Given the description of an element on the screen output the (x, y) to click on. 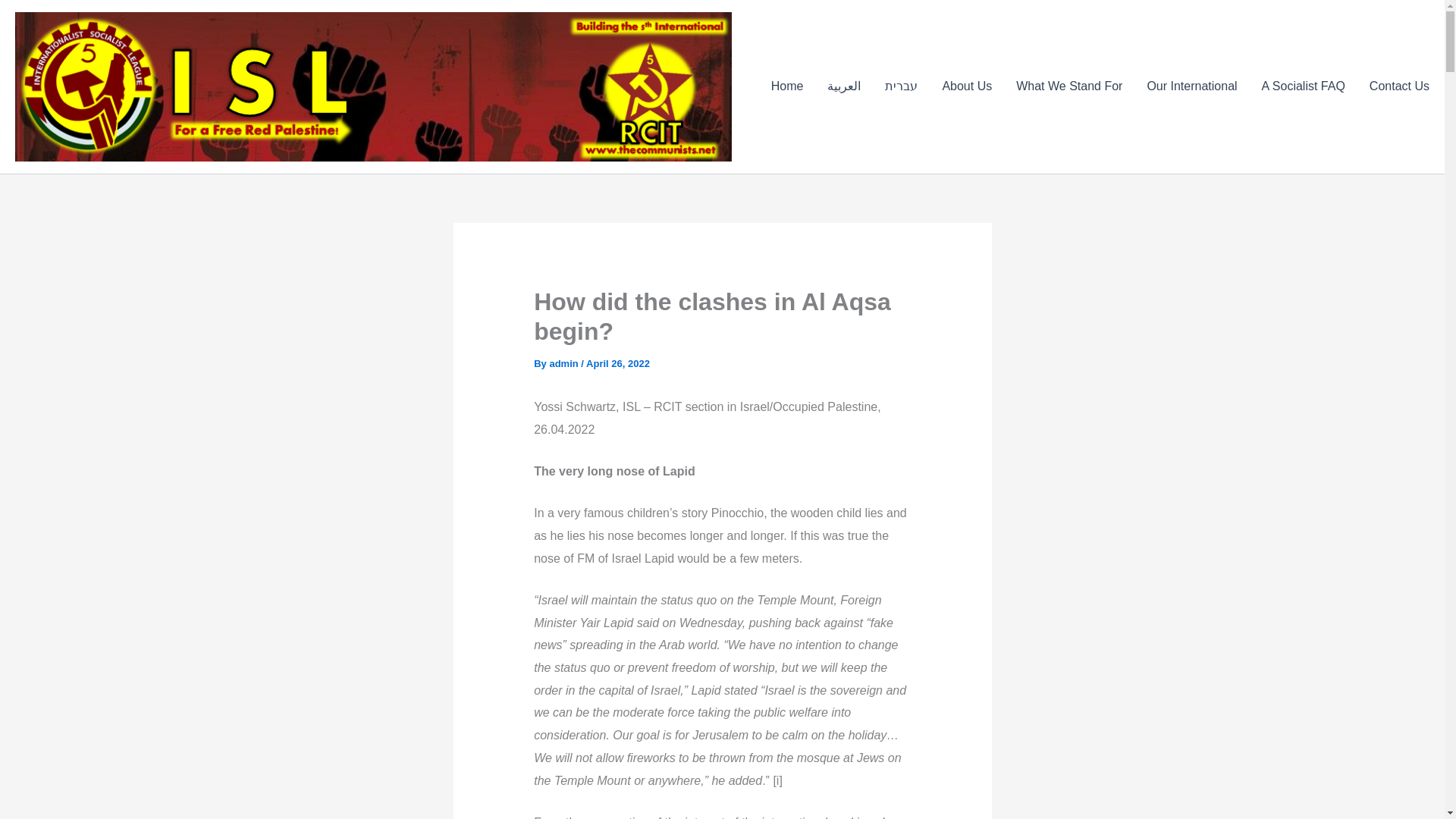
Our International (1191, 86)
Contact Us (1392, 86)
View all posts by admin (564, 363)
About Us (967, 86)
Home (786, 86)
admin (564, 363)
A Socialist FAQ (1302, 86)
What We Stand For (1069, 86)
